Given the description of an element on the screen output the (x, y) to click on. 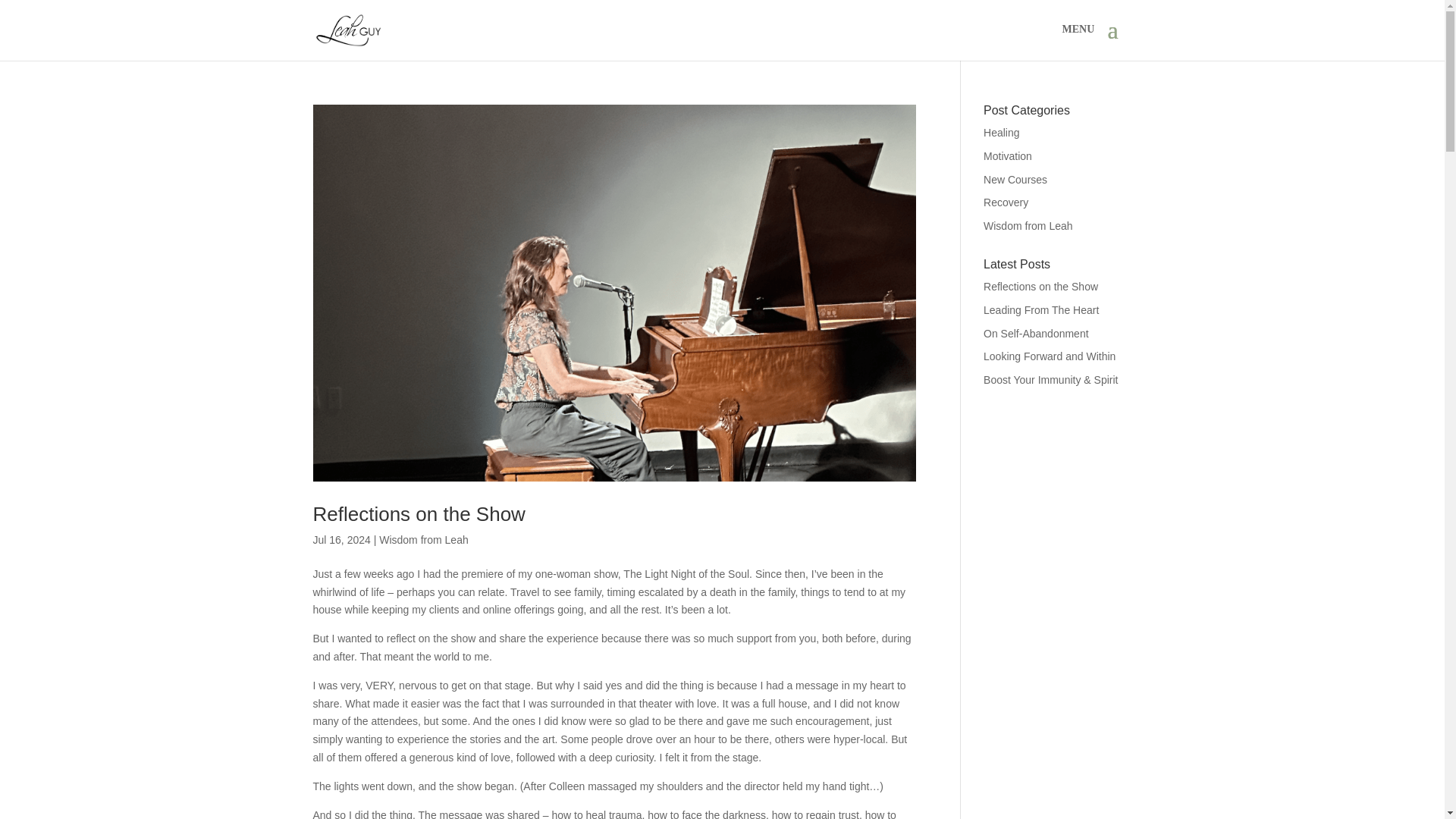
Recovery (1005, 202)
Wisdom from Leah (422, 539)
Healing (1001, 132)
New Courses (1015, 179)
Motivation (1008, 155)
Reflections on the Show (418, 513)
